Given the description of an element on the screen output the (x, y) to click on. 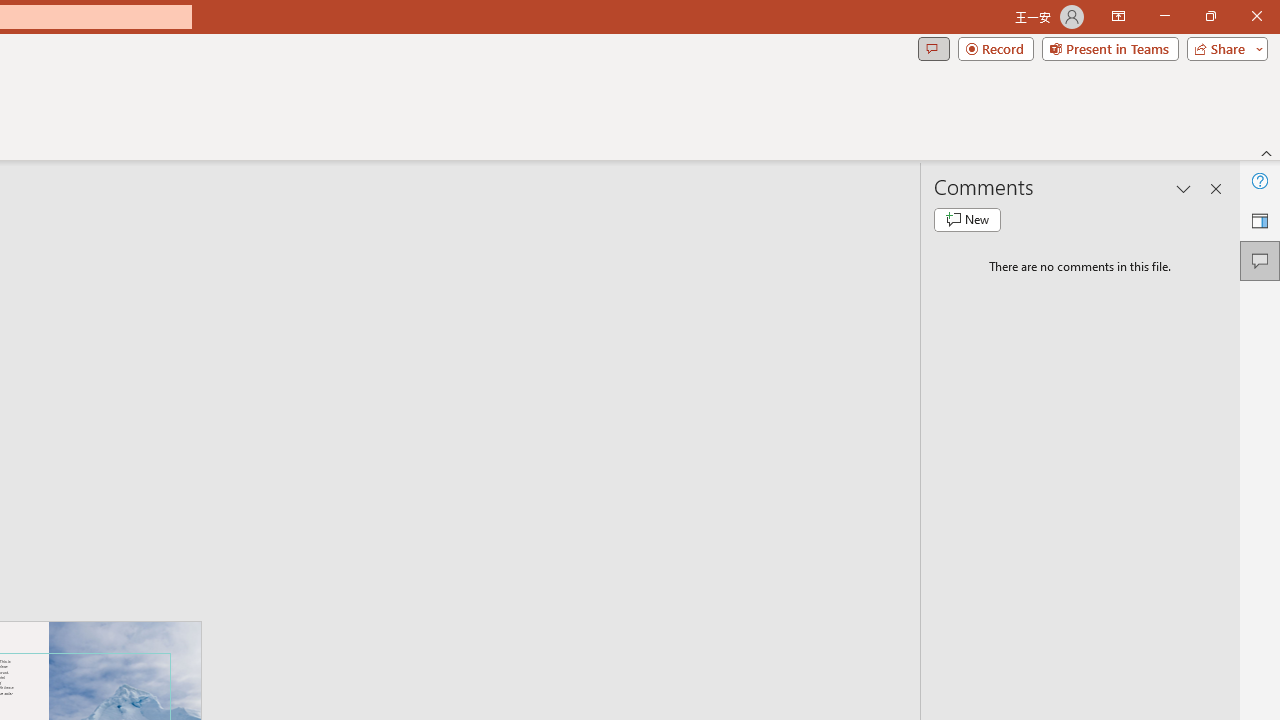
New comment (967, 219)
